Given the description of an element on the screen output the (x, y) to click on. 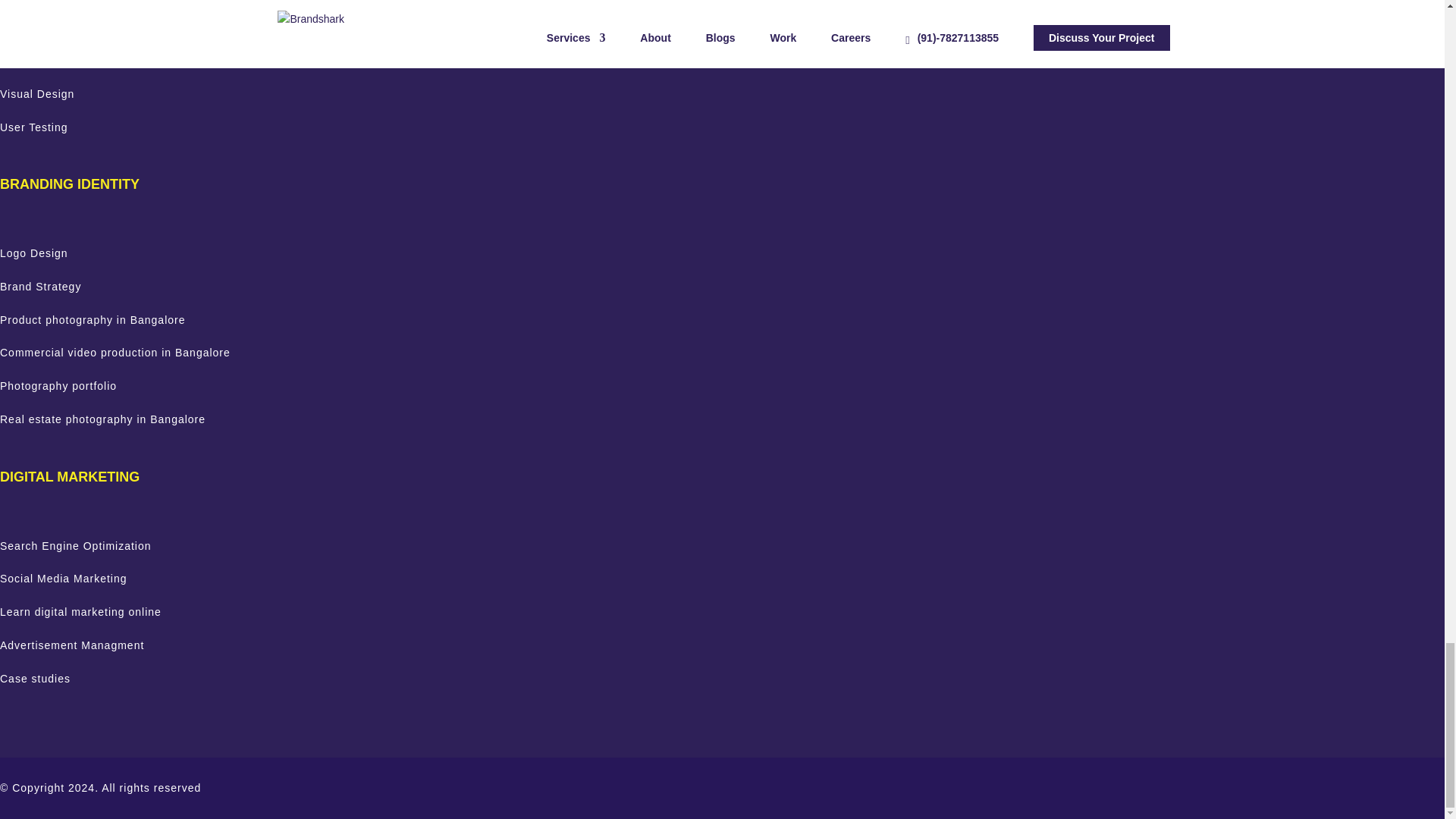
Learn digital marketing online (80, 612)
